Given the description of an element on the screen output the (x, y) to click on. 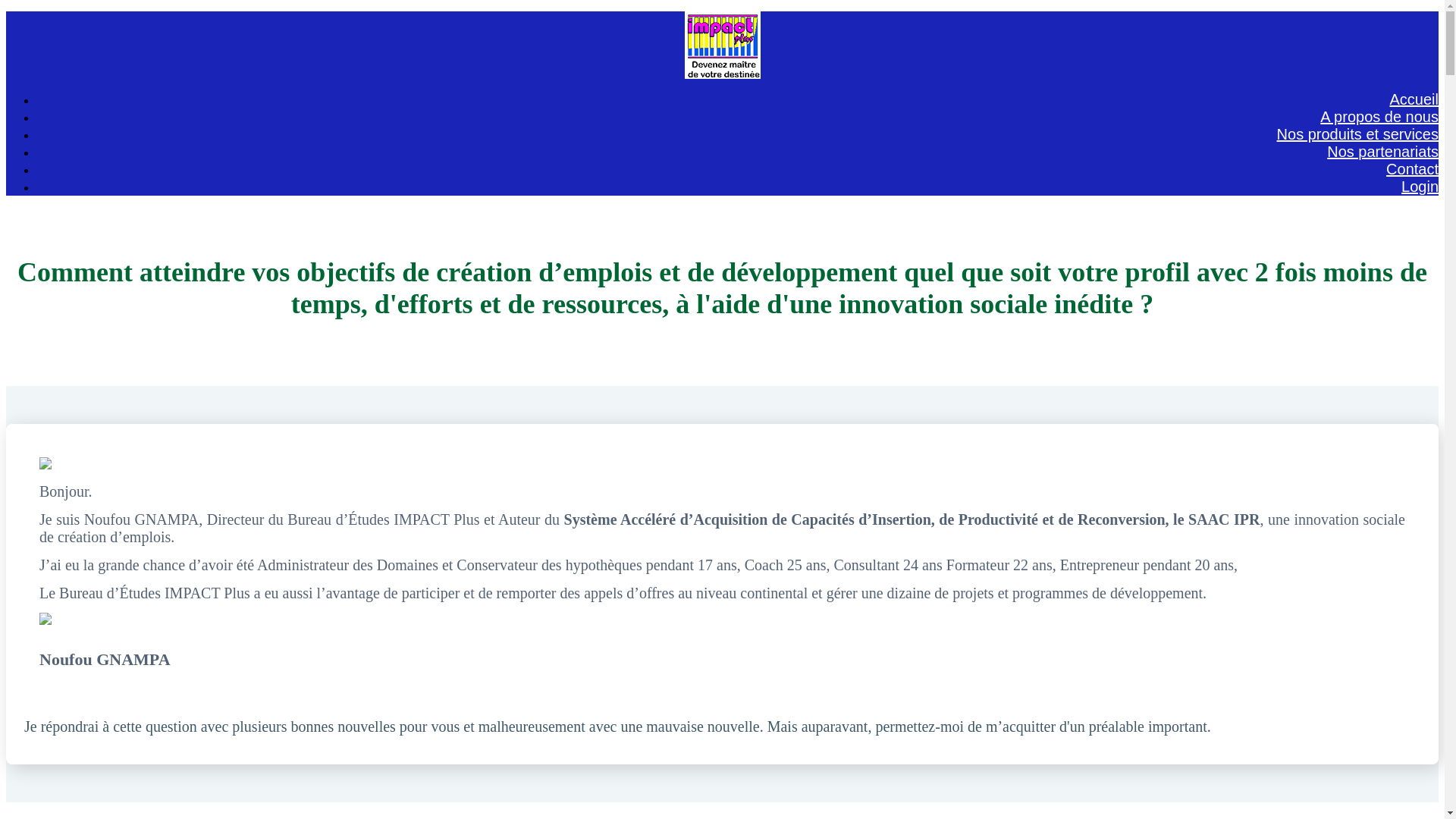
Contact Element type: text (1412, 168)
Nos produits et services Element type: text (1357, 133)
Login Element type: text (1419, 186)
Accueil Element type: text (1414, 99)
Nos partenariats Element type: text (1382, 151)
A propos de nous Element type: text (1379, 116)
